Given the description of an element on the screen output the (x, y) to click on. 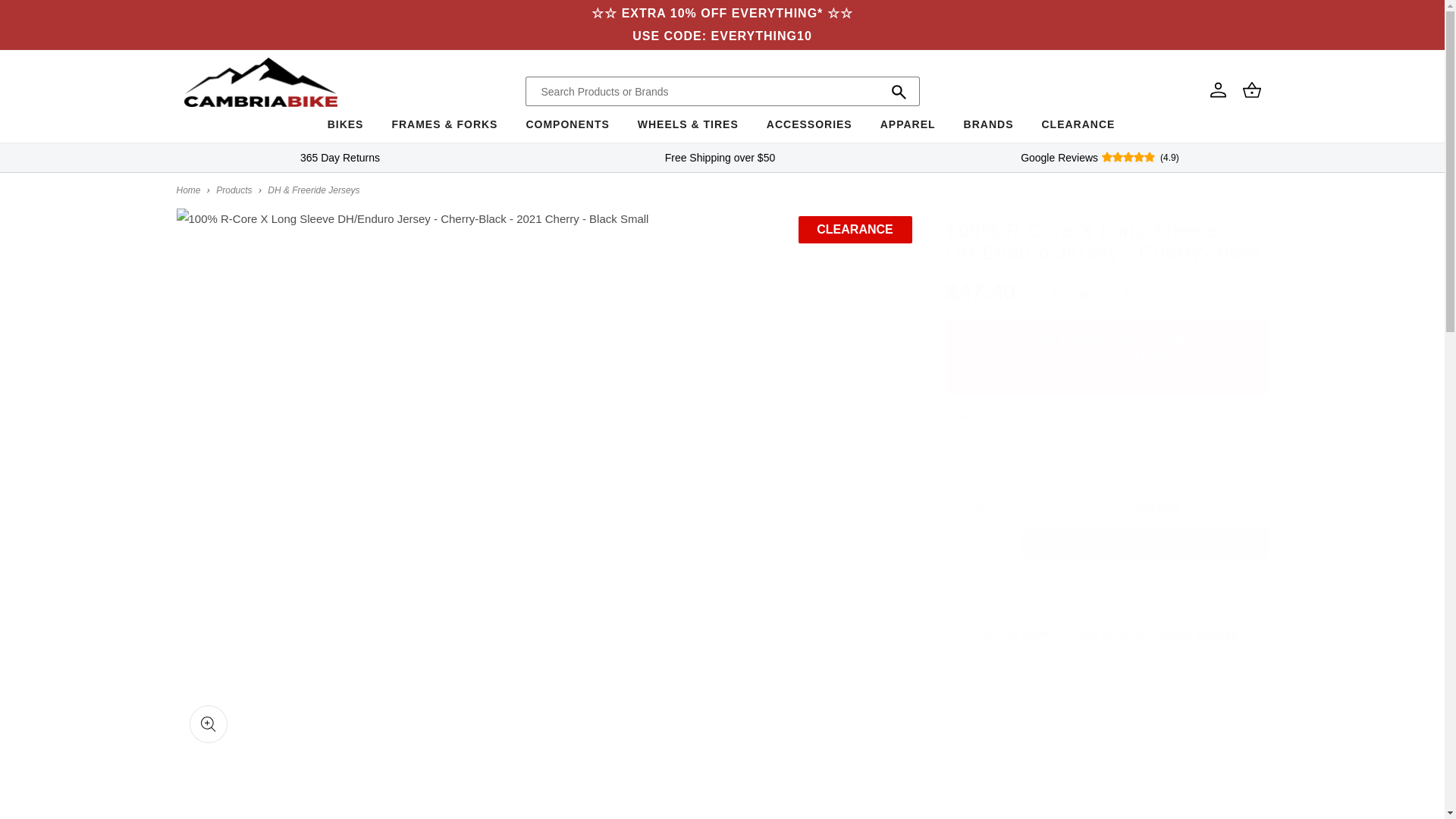
Cambria Bike (188, 190)
Products (233, 190)
Skip to content (45, 17)
